Given the description of an element on the screen output the (x, y) to click on. 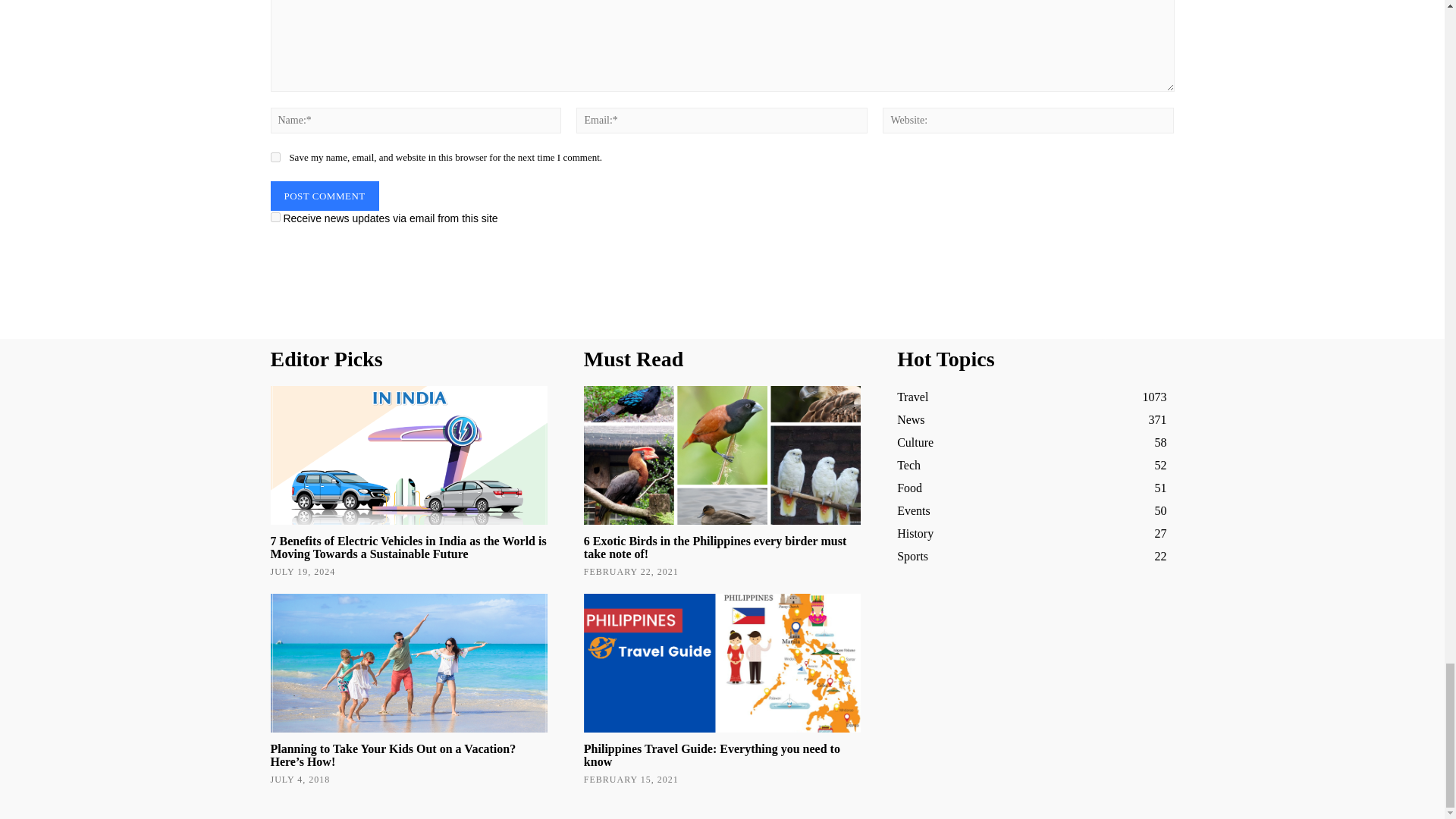
1 (274, 216)
yes (274, 157)
Post Comment (323, 195)
